Given the description of an element on the screen output the (x, y) to click on. 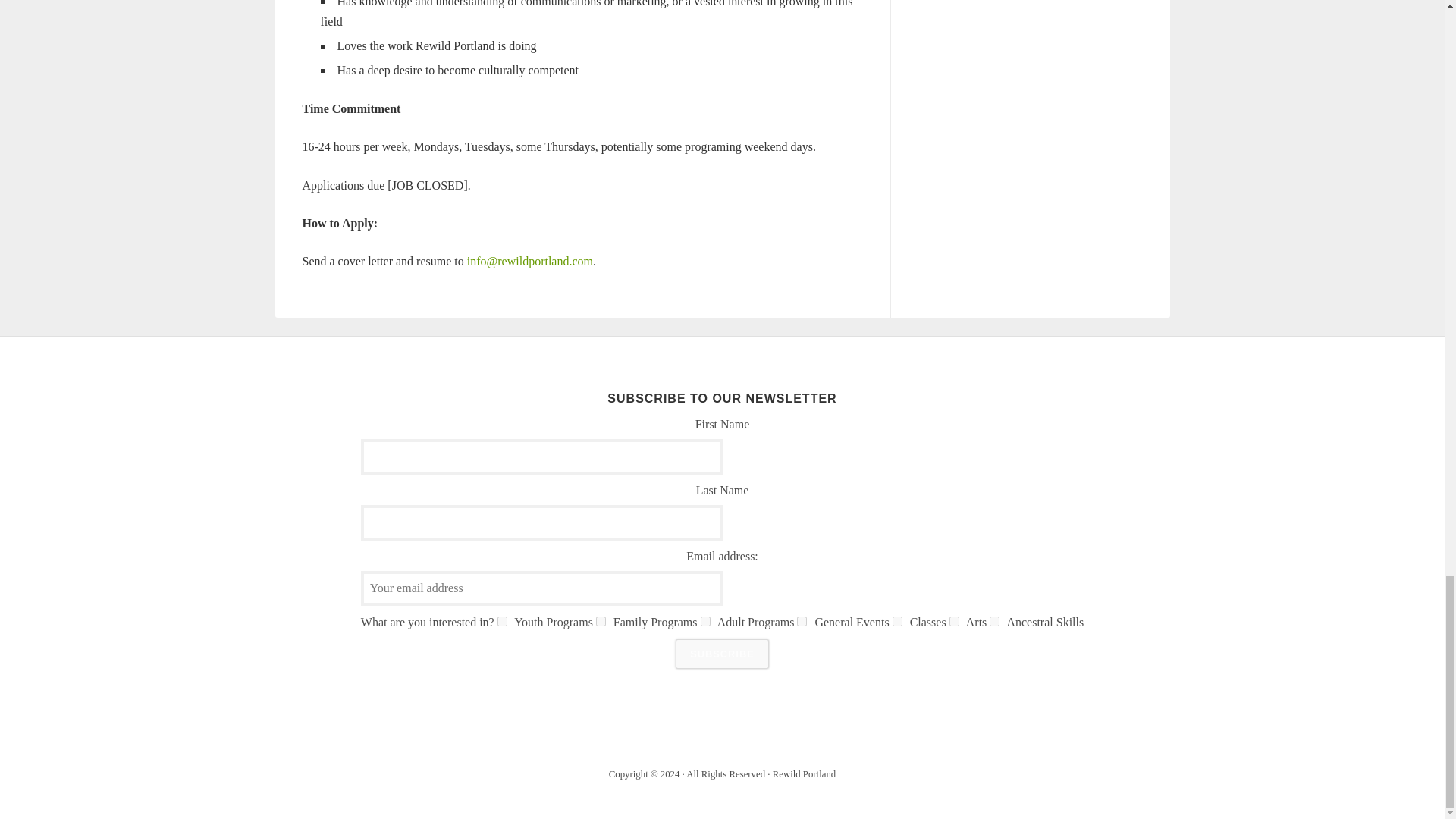
2d4cb3a8e5 (954, 621)
504170a2f5 (501, 621)
e719ee87cd (600, 621)
784aba06a5 (705, 621)
2a08284950 (801, 621)
d29c83bfb9 (994, 621)
Subscribe (721, 654)
bb0a7fe0ab (897, 621)
